Given the description of an element on the screen output the (x, y) to click on. 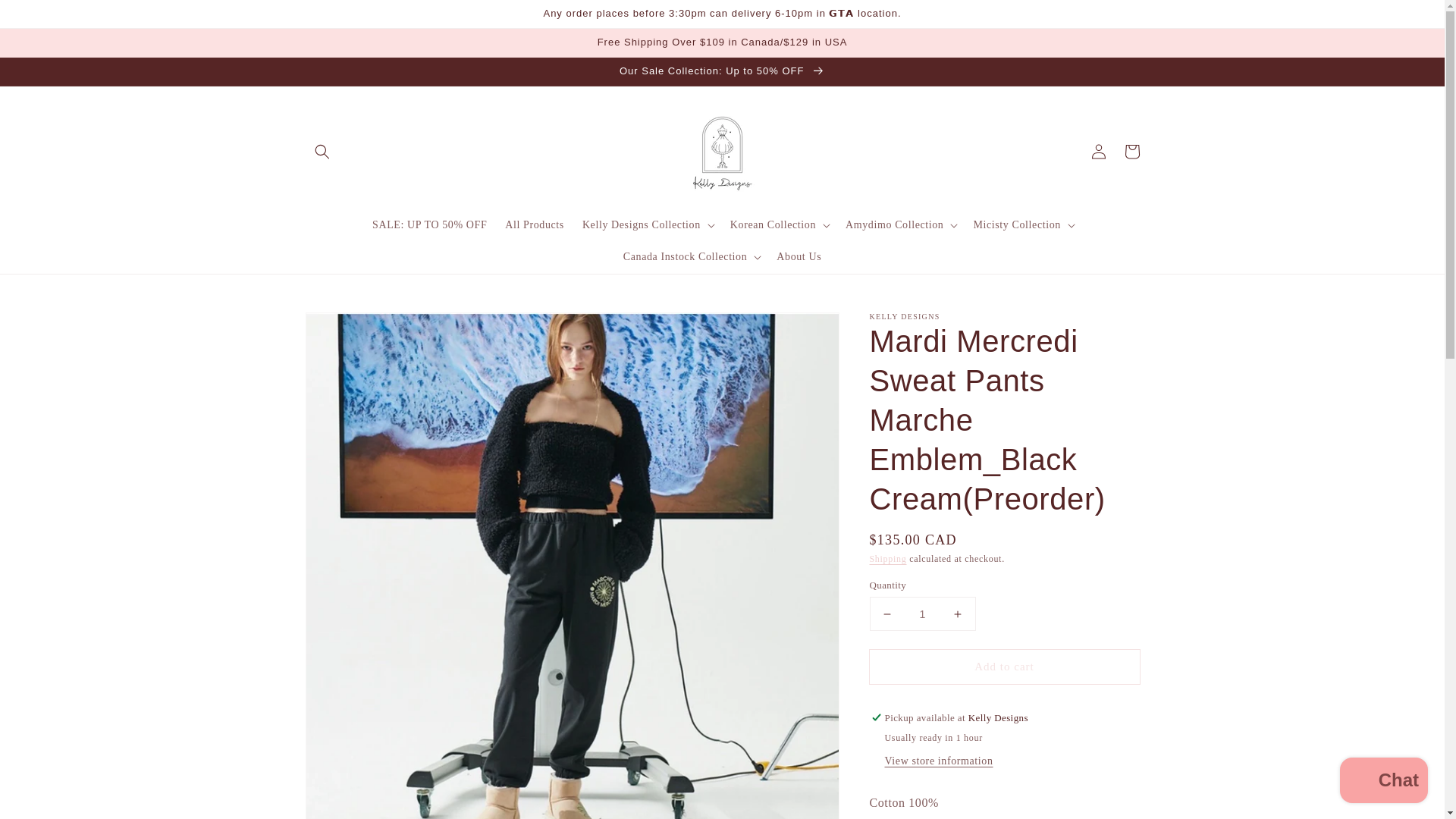
1 (922, 613)
Shopify online store chat (1383, 781)
Skip to content (45, 16)
